Given the description of an element on the screen output the (x, y) to click on. 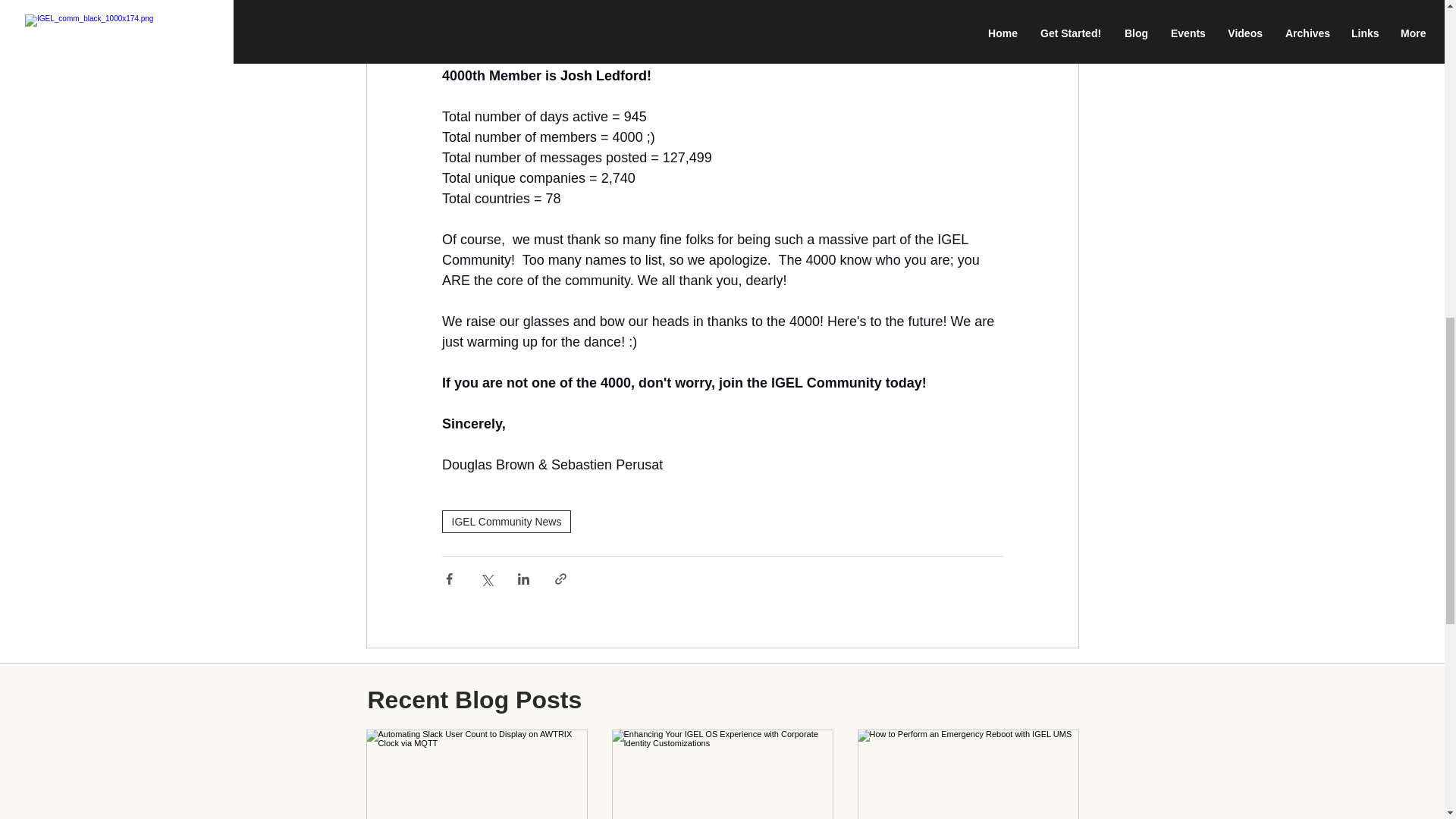
IGEL Community News (505, 521)
